Given the description of an element on the screen output the (x, y) to click on. 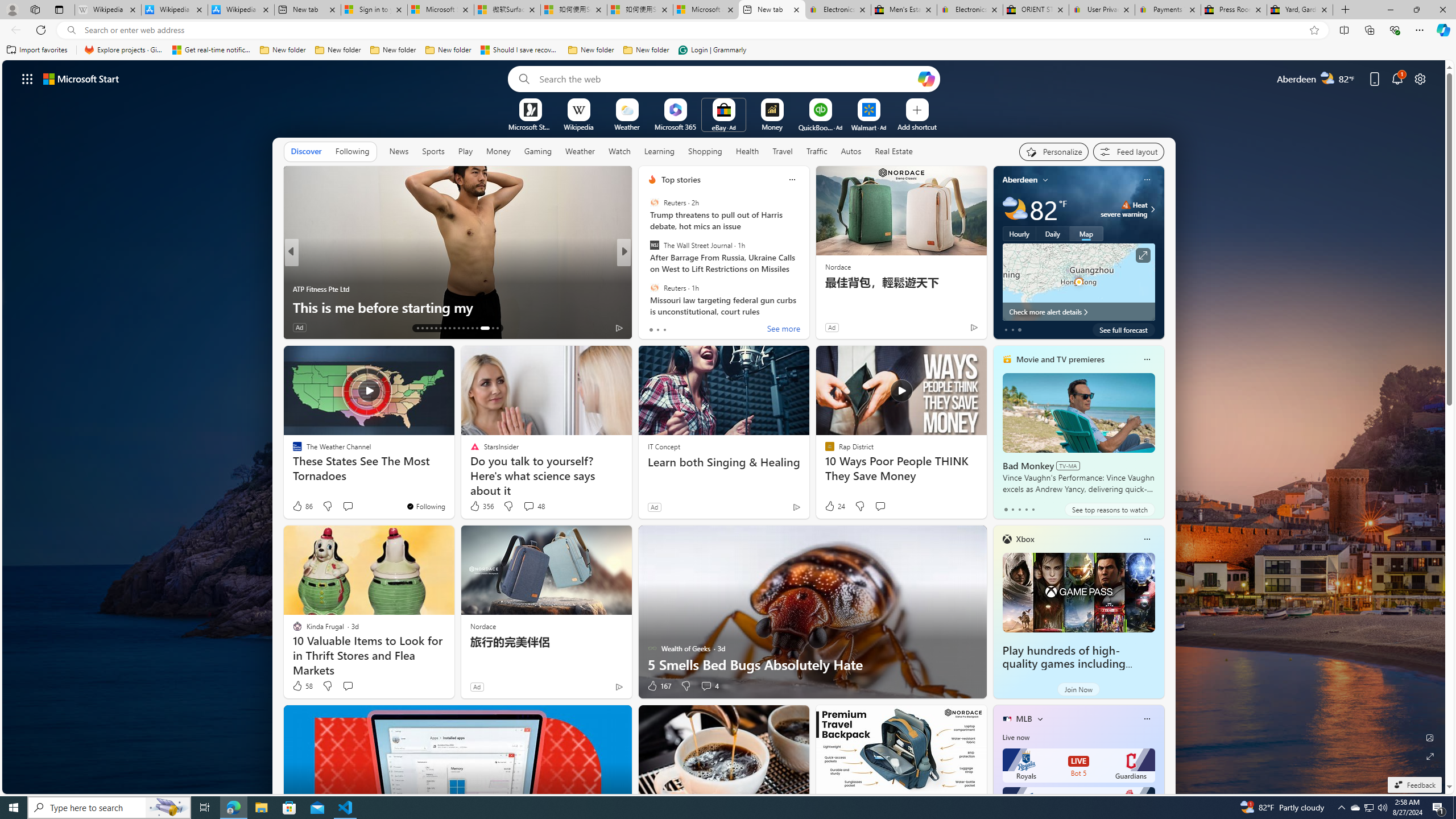
Heat - Severe (1126, 204)
Edit Background (1430, 737)
86 Like (301, 505)
24 Like (834, 505)
AutomationID: tab-20 (449, 328)
Check more alert details (1077, 311)
90 Like (303, 327)
Map (1085, 233)
